Given the description of an element on the screen output the (x, y) to click on. 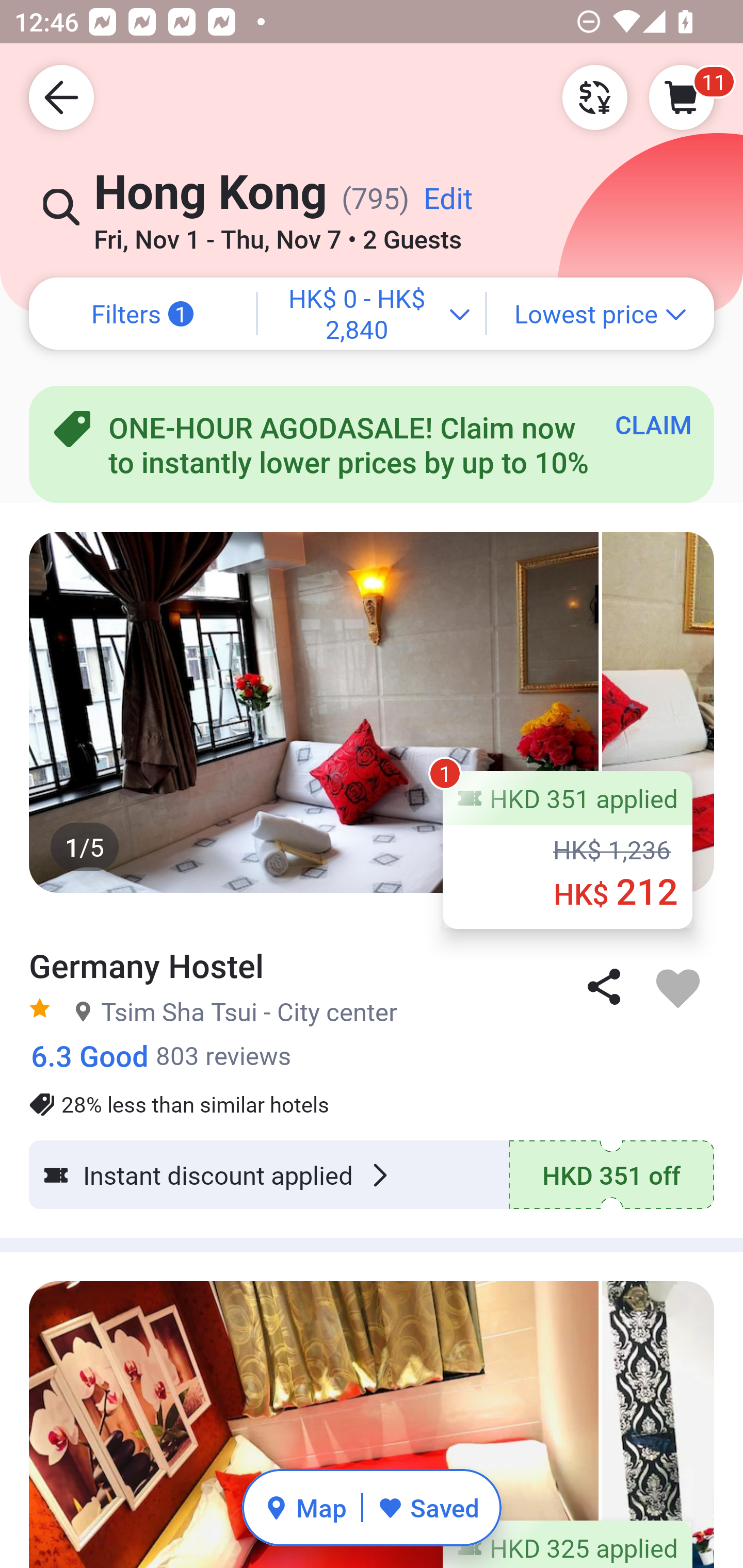
Edit (447, 205)
Fri, Nov 1 - Thu, Nov 7 • 2 Guests (277, 232)
Filters 1 (141, 313)
⁦HK$ 0⁩ - ⁦HK$ 2,840⁩ (371, 313)
Lowest price (600, 313)
CLAIM (653, 424)
1/5 (371, 711)
HKD 351 applied ‪HK$ 1,236 ‪HK$ 212 1 (567, 849)
Instant discount applied HKD 351 off (371, 1175)
HKD 325 applied (371, 1410)
Map Saved (371, 1507)
Map (305, 1507)
Saved (428, 1507)
HKD 325 applied (567, 1544)
